Given the description of an element on the screen output the (x, y) to click on. 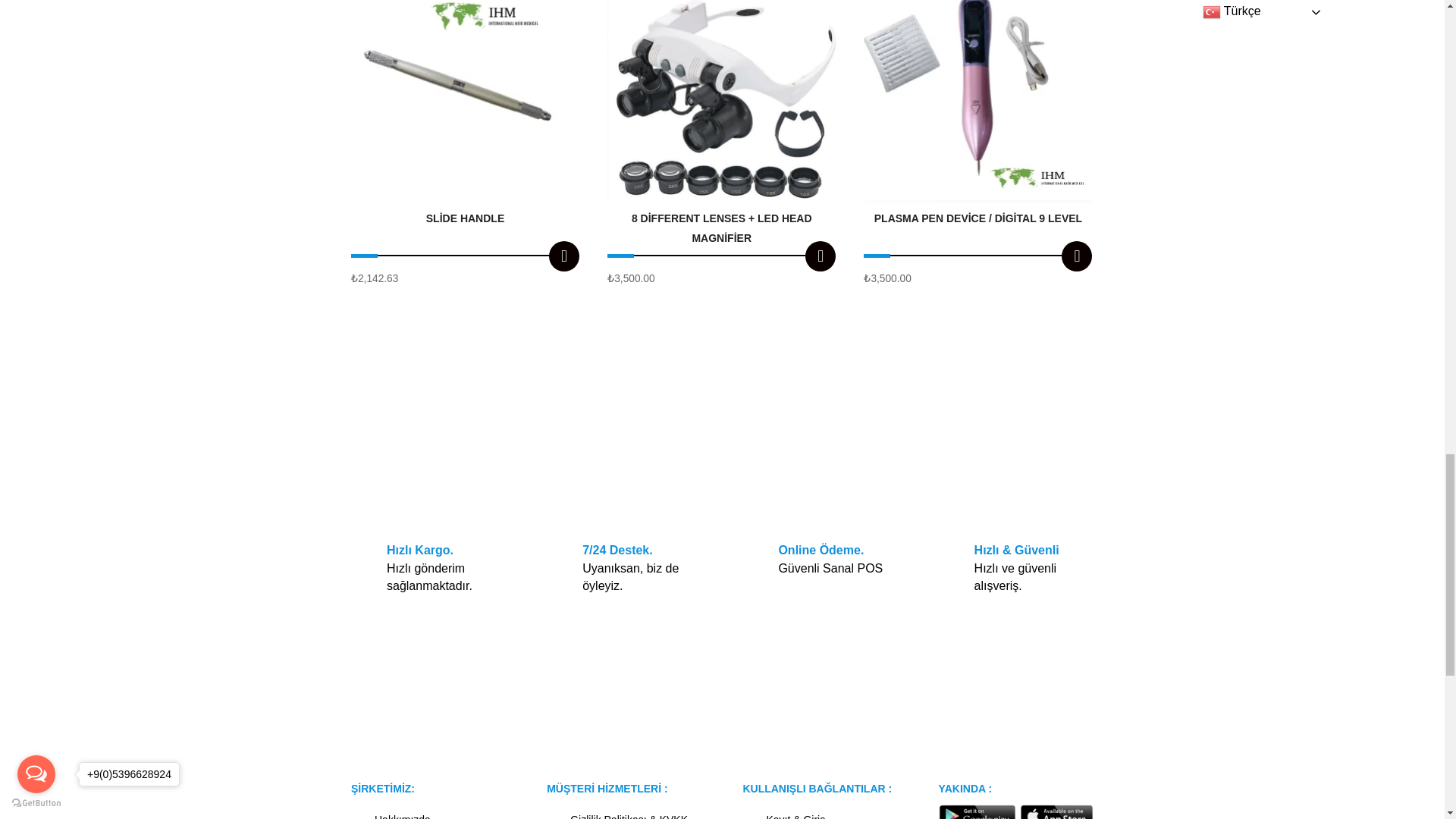
playstore (1016, 811)
